Given the description of an element on the screen output the (x, y) to click on. 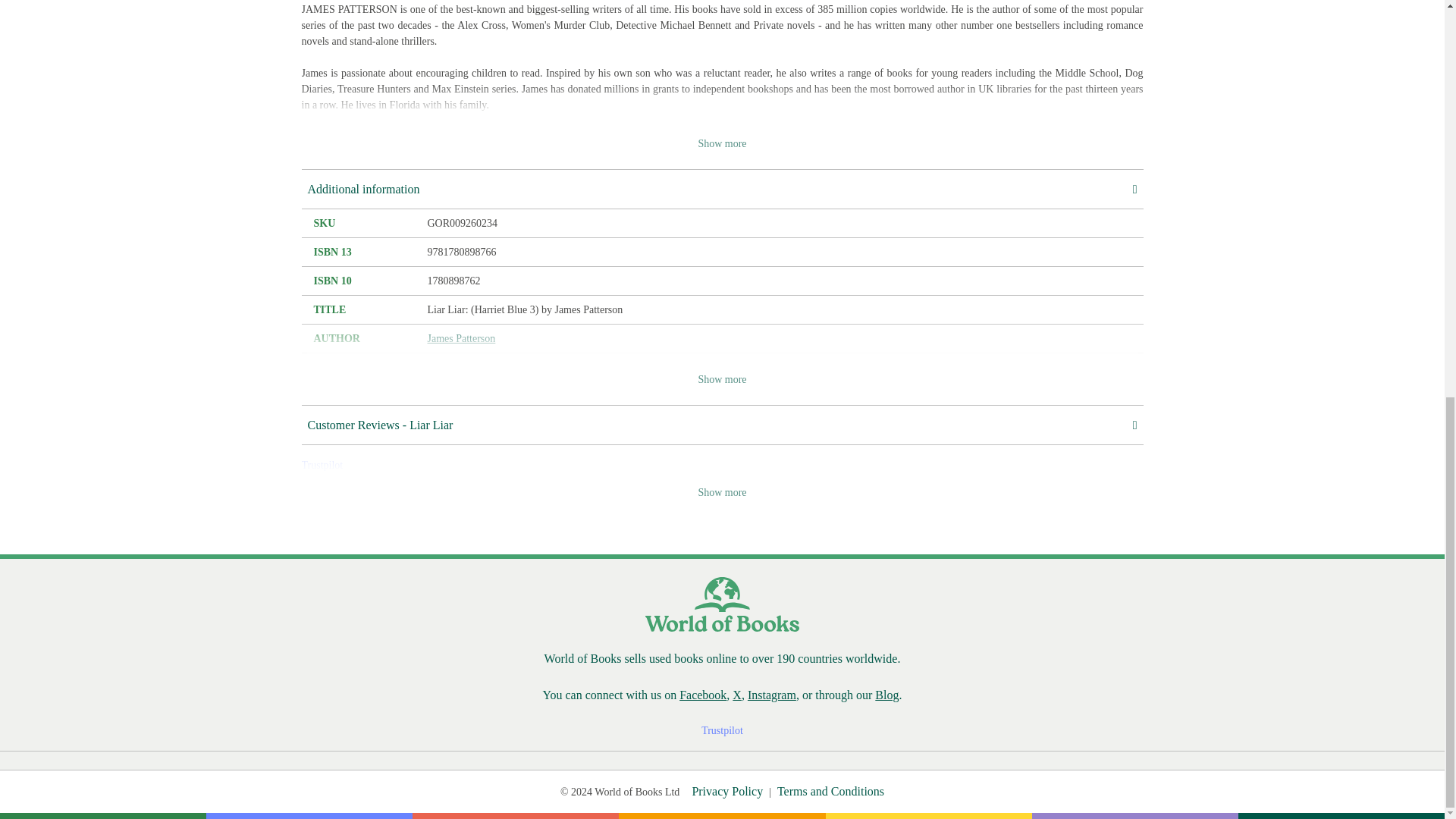
James Patterson (462, 337)
Show more (721, 143)
Show more (721, 492)
Trustpilot (322, 464)
Show more (721, 379)
